Given the description of an element on the screen output the (x, y) to click on. 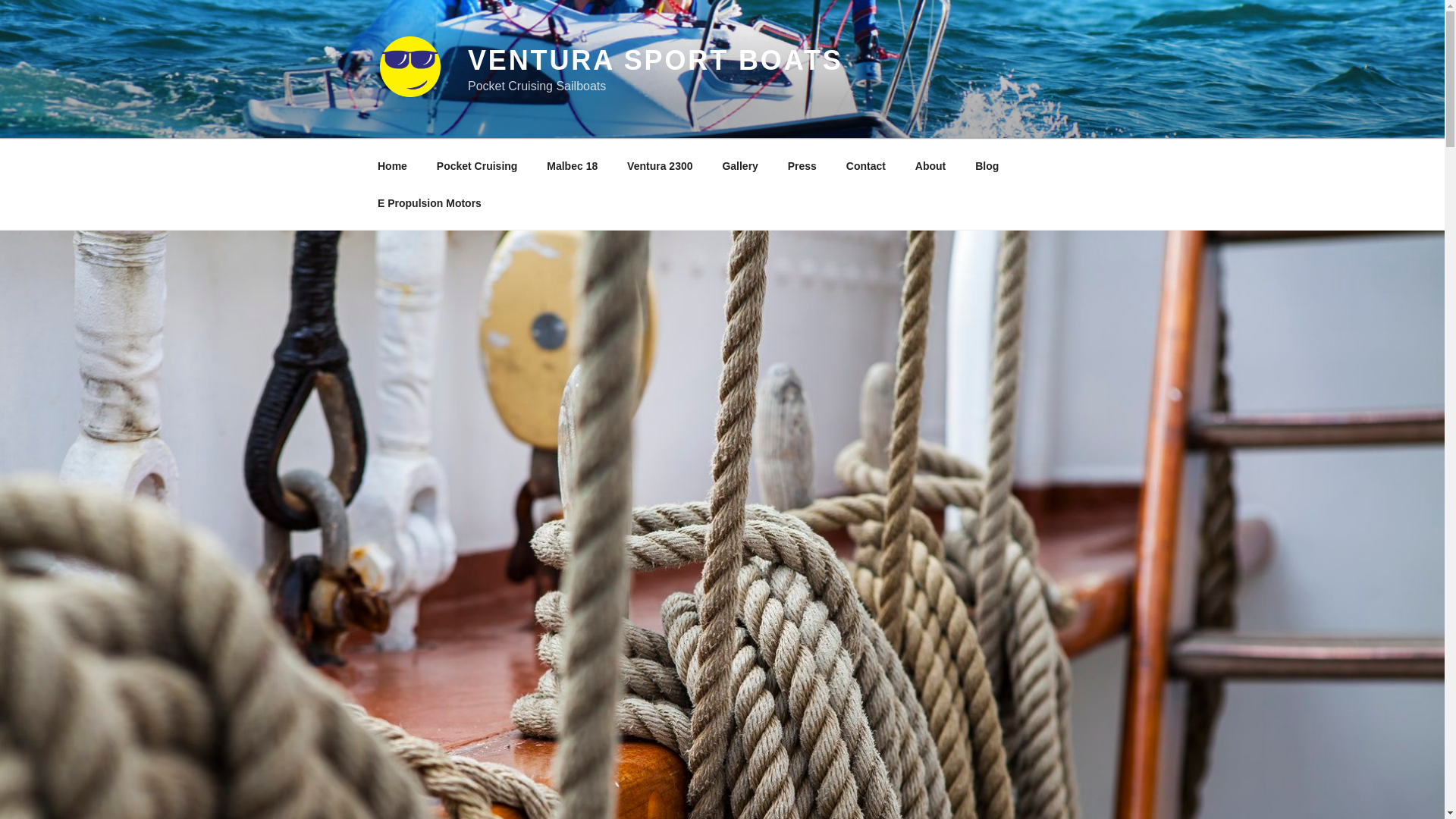
VENTURA SPORT BOATS (655, 60)
Blog (986, 165)
Home (392, 165)
Malbec 18 (572, 165)
About (929, 165)
Ventura 2300 (660, 165)
Pocket Cruising (477, 165)
E Propulsion Motors (429, 203)
Press (801, 165)
Gallery (740, 165)
Contact (865, 165)
